Given the description of an element on the screen output the (x, y) to click on. 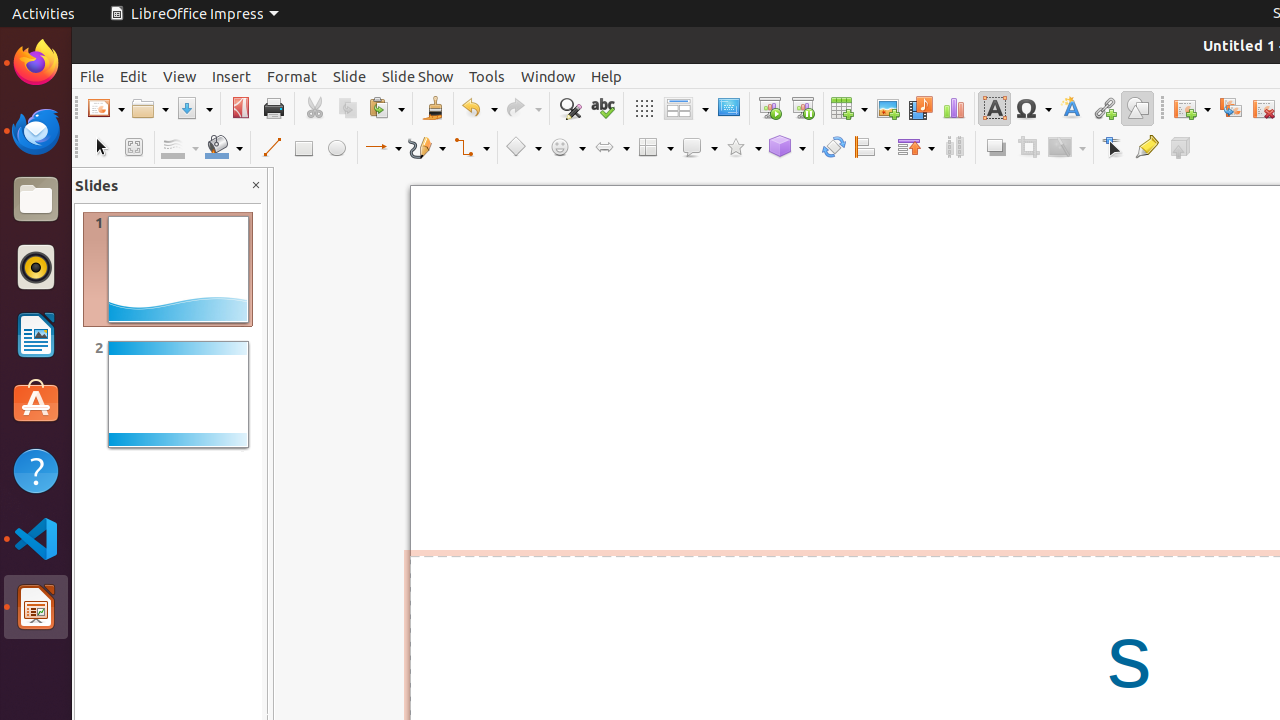
Line Element type: push-button (270, 147)
Format Element type: menu (292, 76)
Curves and Polygons Element type: push-button (427, 147)
Files Element type: push-button (36, 199)
